Given the description of an element on the screen output the (x, y) to click on. 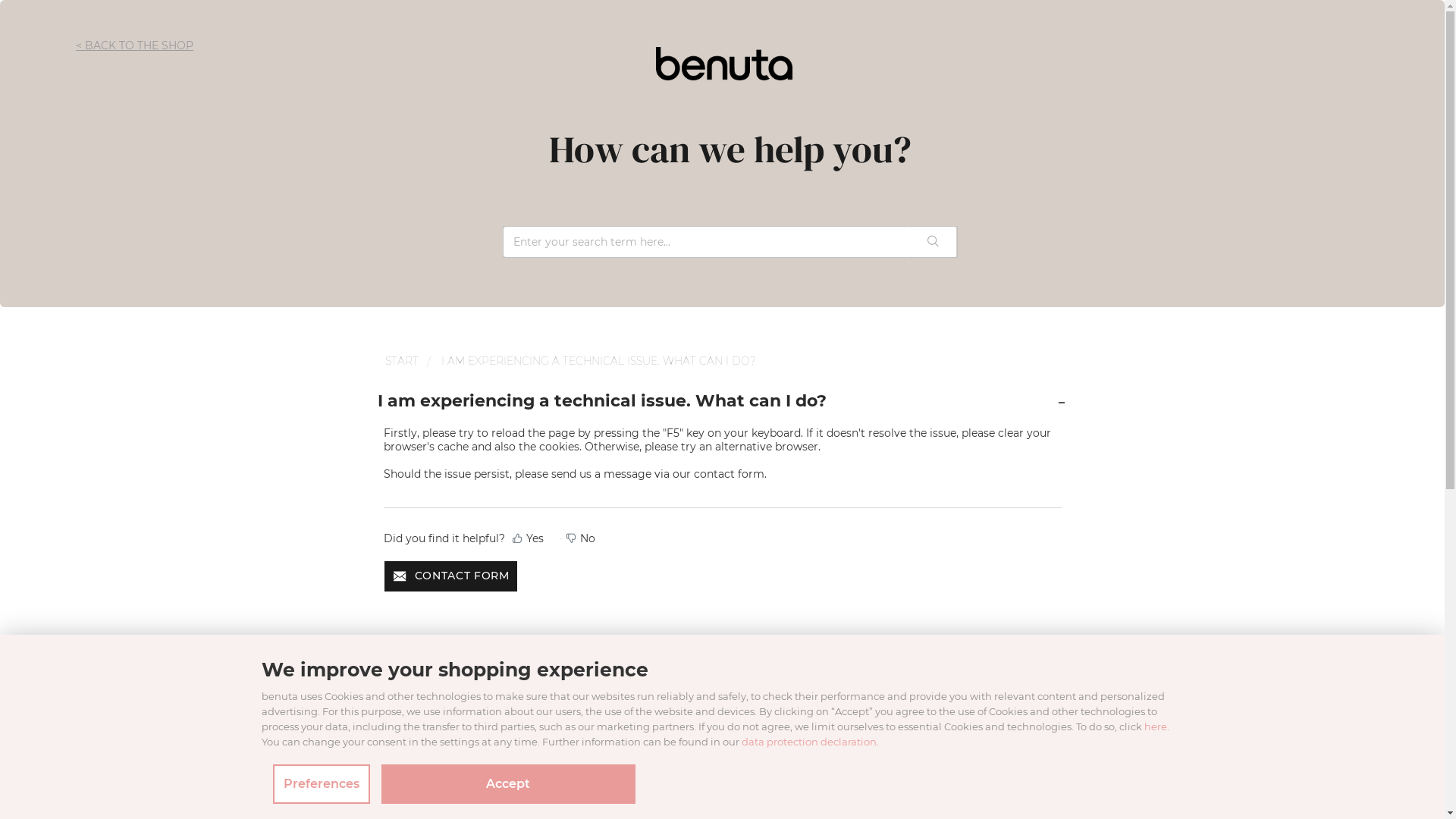
Preferences Element type: text (321, 783)
< BACK TO THE SHOP Element type: text (134, 45)
CONTACT FORM Element type: text (450, 576)
here Element type: text (1154, 726)
START Element type: text (401, 360)
Accept Element type: text (507, 783)
data protection declaration Element type: text (808, 741)
